Given the description of an element on the screen output the (x, y) to click on. 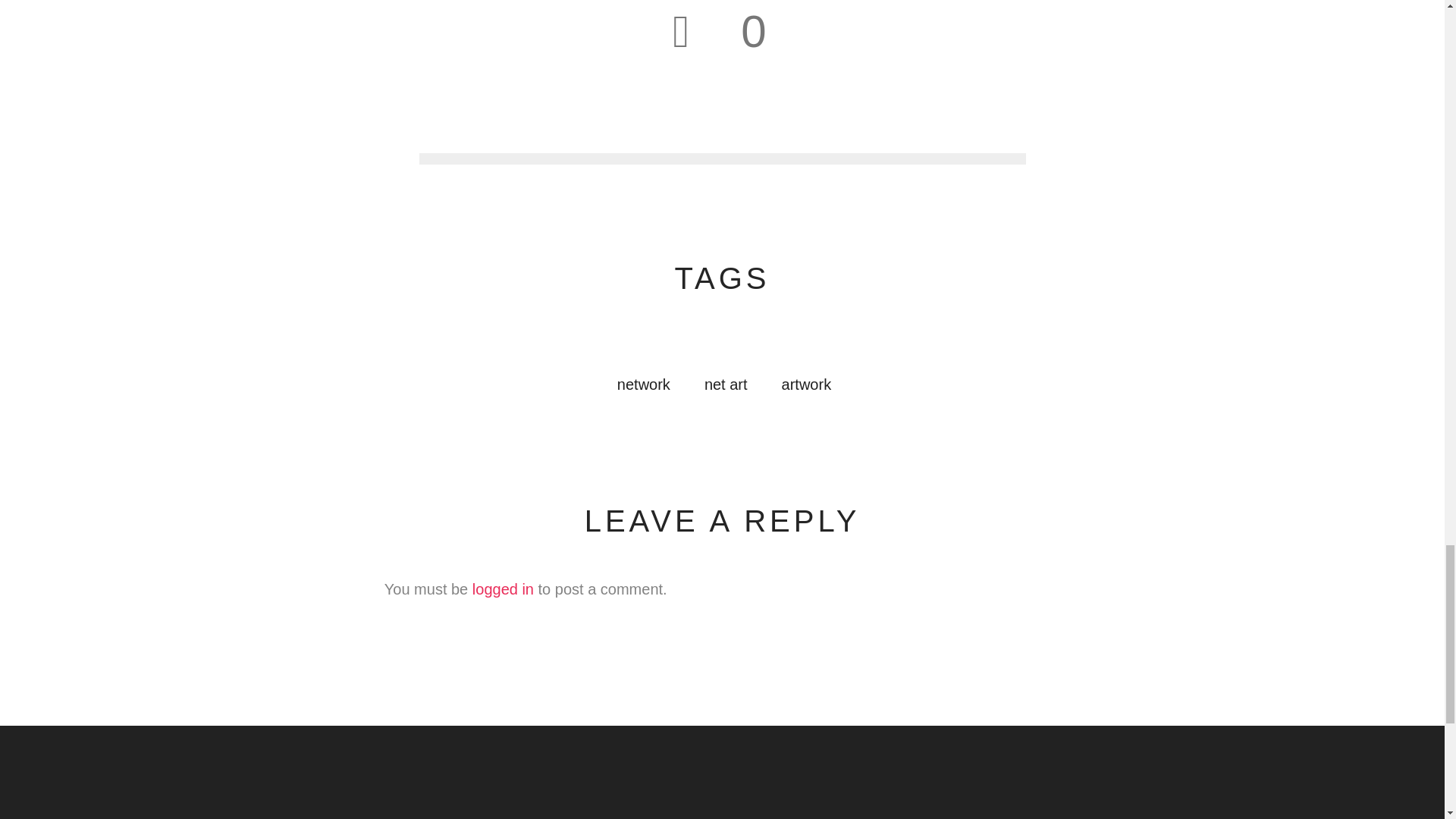
net art (726, 384)
artwork (806, 384)
logged in (502, 588)
network (643, 384)
